Given the description of an element on the screen output the (x, y) to click on. 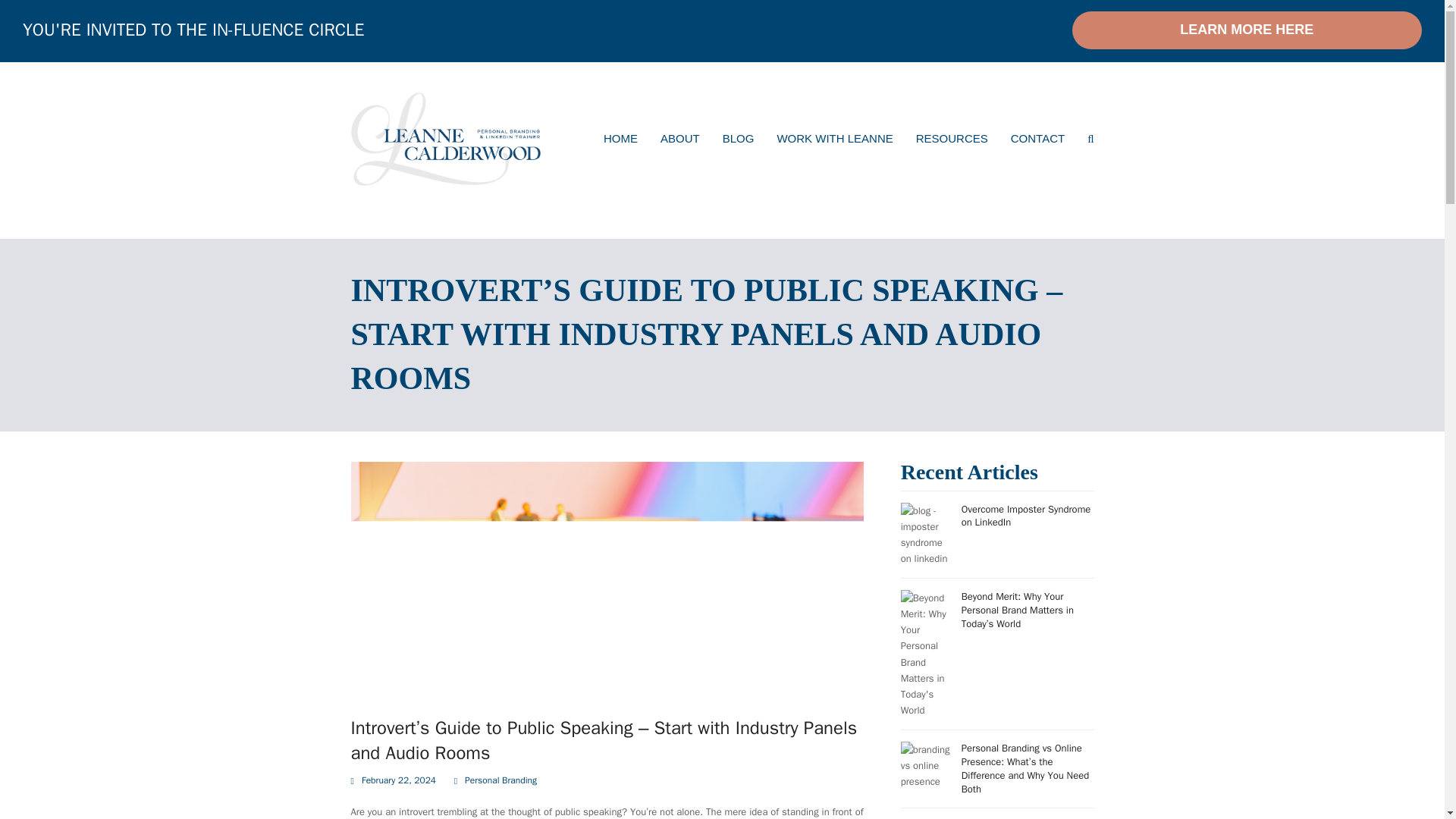
LEARN MORE HERE (1246, 30)
HOME (620, 139)
BLOG (738, 139)
RESOURCES (951, 139)
ABOUT (680, 139)
CONTACT (1036, 139)
Personal Branding (500, 779)
WORK WITH LEANNE (834, 139)
